Given the description of an element on the screen output the (x, y) to click on. 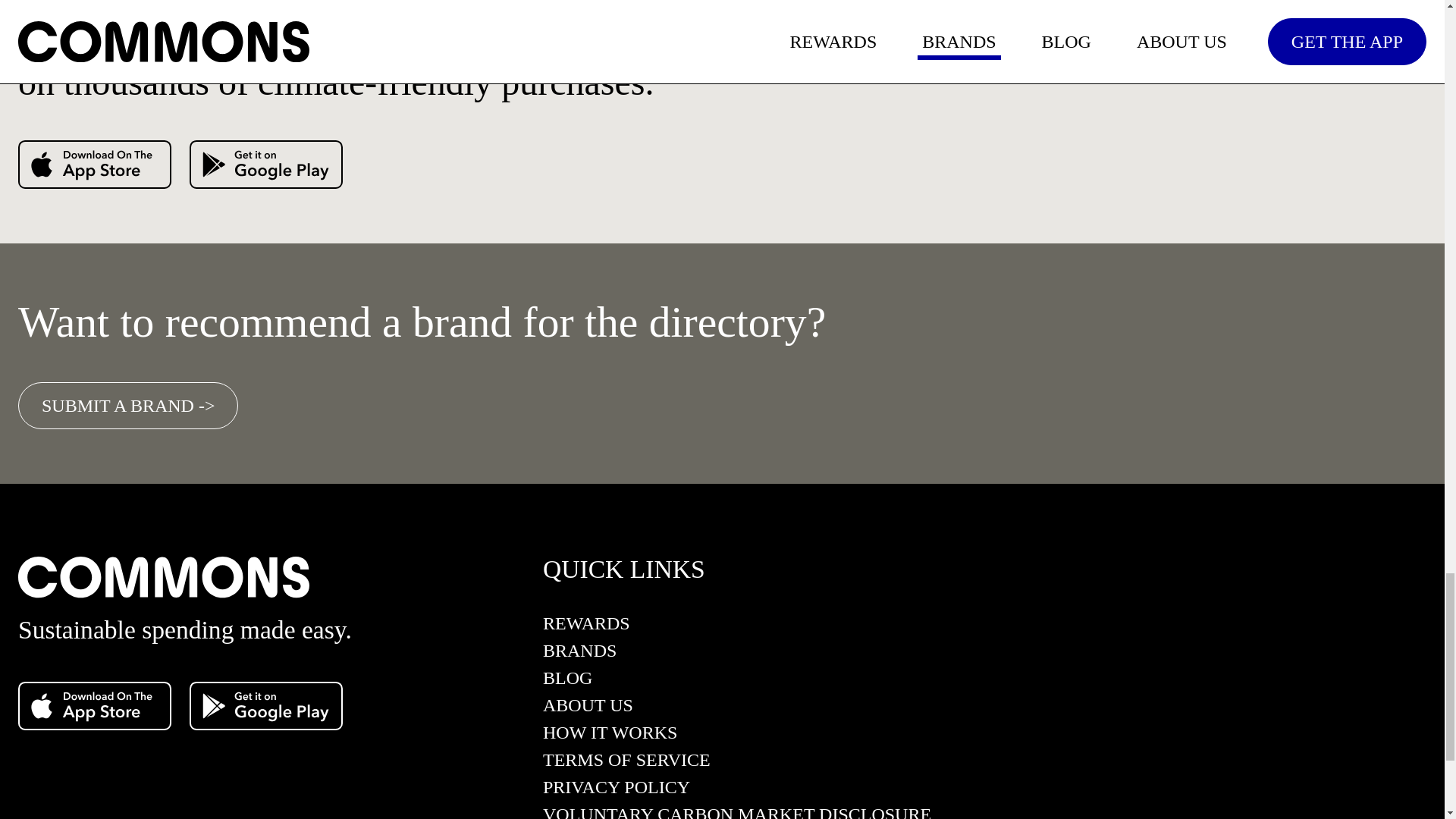
BLOG (737, 682)
HOW IT WORKS (737, 737)
ABOUT US (737, 709)
BRANDS (737, 655)
REWARDS (737, 627)
